Given the description of an element on the screen output the (x, y) to click on. 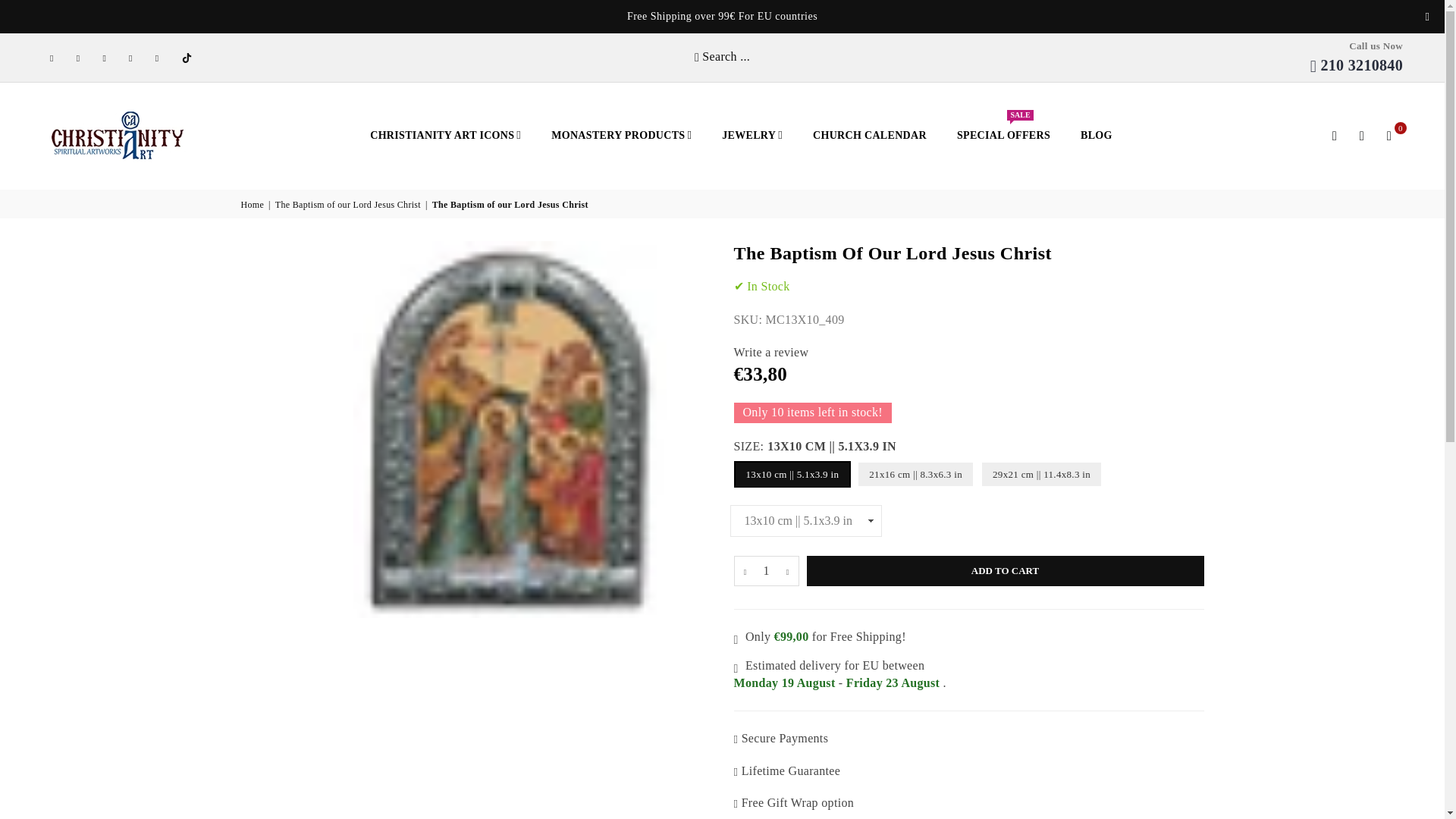
CHRISTIANITY ART (128, 135)
Twitter (79, 58)
Christianity Art on TikTok (186, 58)
Quantity (766, 571)
Search ... (721, 56)
Christianity Art on Twitter (79, 58)
0 (1389, 135)
TikTok (186, 58)
YouTube (158, 58)
Search (1334, 135)
